Given the description of an element on the screen output the (x, y) to click on. 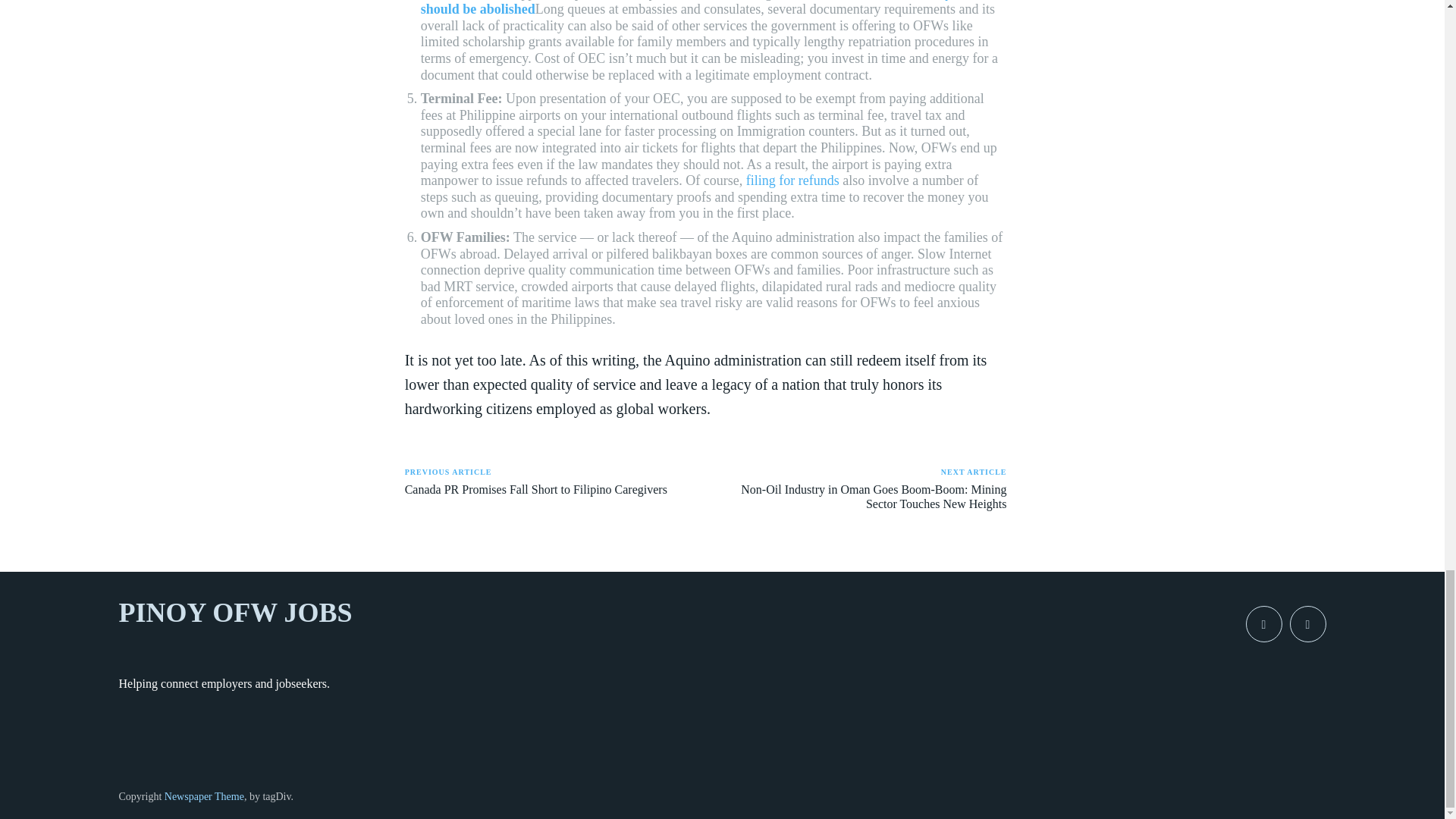
Canada PR Promises Fall Short to Filipino Caregivers (535, 489)
filing for refunds (792, 180)
Why OEC should be abolished (702, 8)
